Given the description of an element on the screen output the (x, y) to click on. 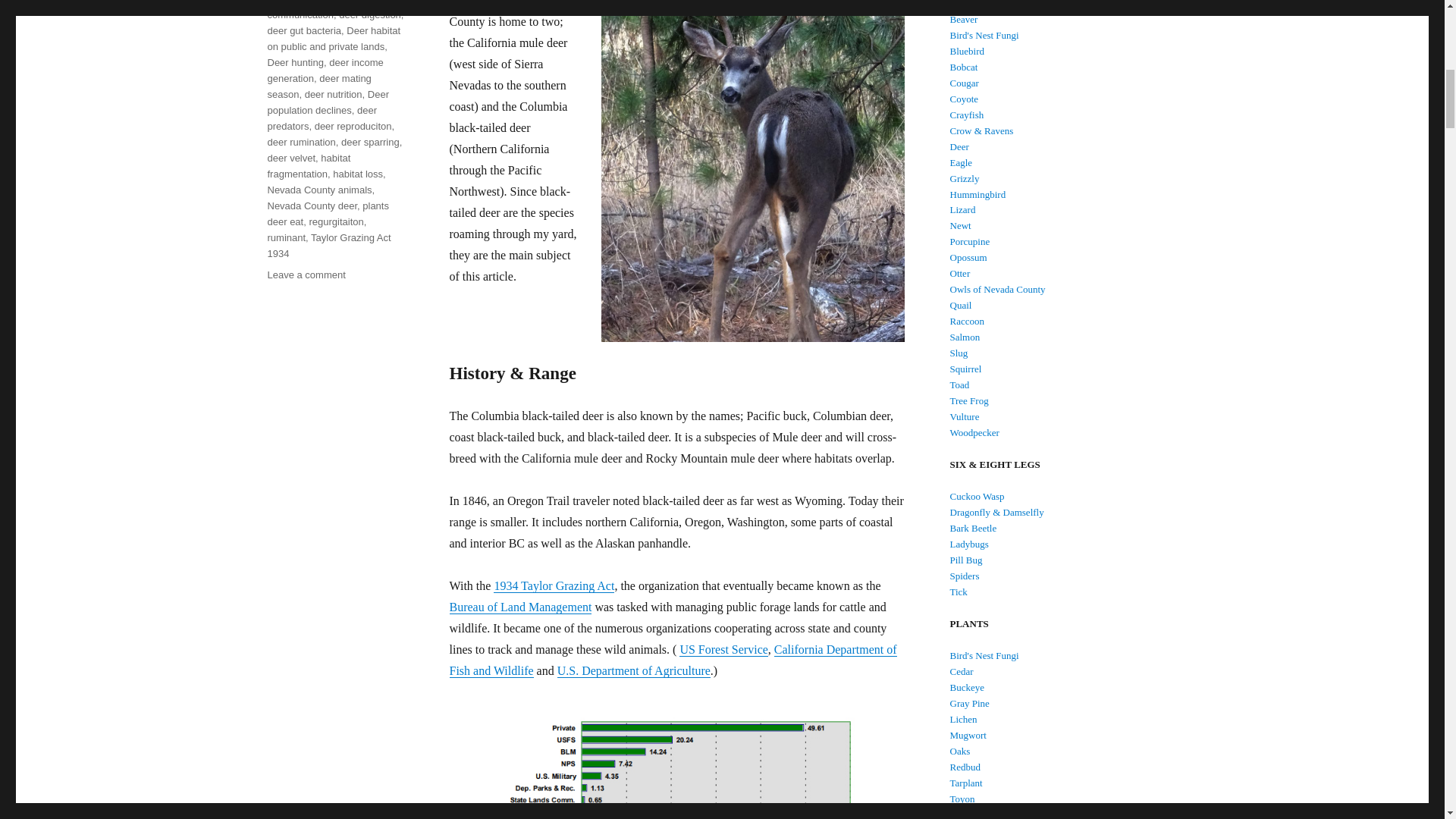
US Forest Service (723, 649)
1934 Taylor Grazing Act (553, 585)
Bureau of Land Management (519, 606)
U.S. Department of Agriculture (633, 670)
California Department of Fish and Wildlife (672, 659)
